Given the description of an element on the screen output the (x, y) to click on. 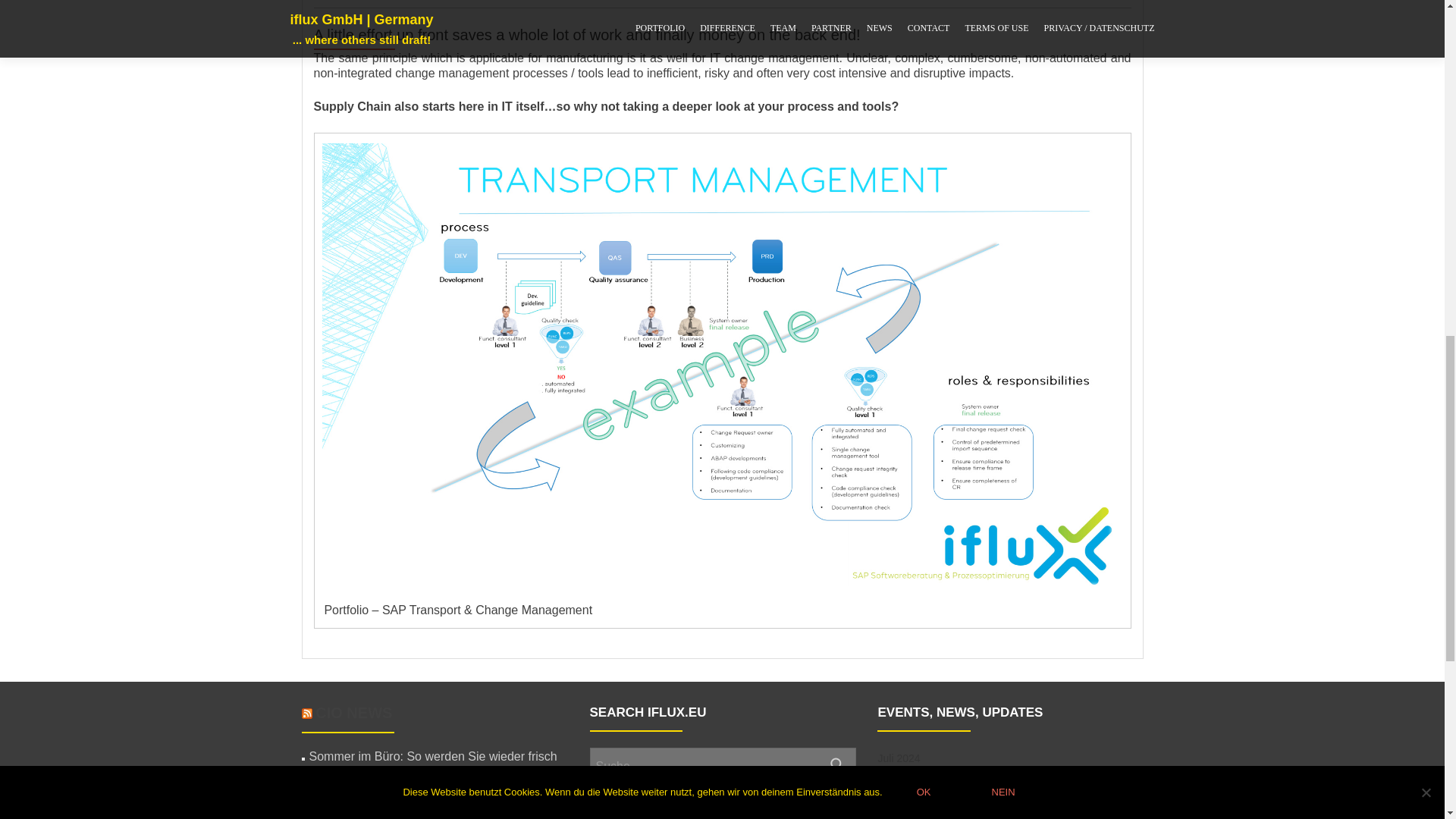
Montag (896, 784)
Freitag (1048, 784)
CIO NEWS (353, 712)
Suche (836, 764)
Suche (836, 764)
Donnerstag (1010, 784)
Sonntag (1123, 784)
Mittwoch (972, 784)
Suche (836, 764)
Samstag (1086, 784)
Dienstag (934, 784)
